Given the description of an element on the screen output the (x, y) to click on. 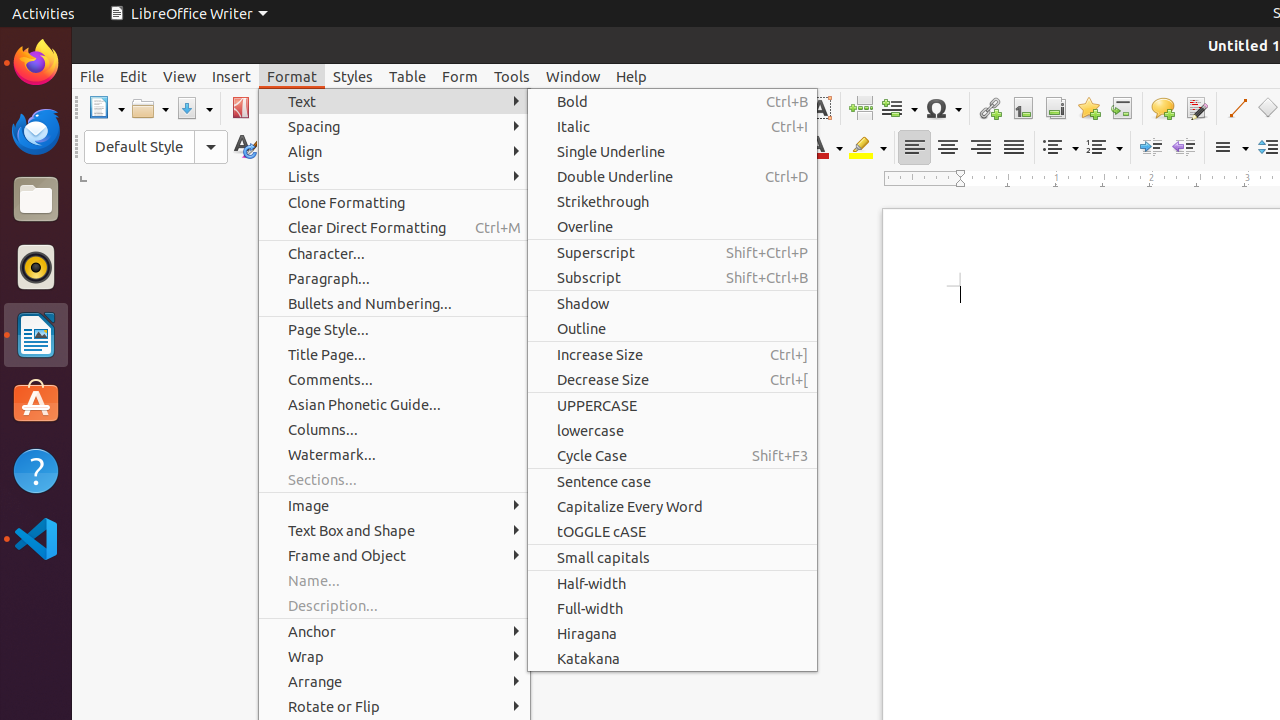
Character... Element type: menu-item (394, 253)
Styles Element type: menu (353, 76)
Help Element type: menu (631, 76)
Left Element type: toggle-button (914, 147)
Line Spacing Element type: push-button (1230, 147)
